Given the description of an element on the screen output the (x, y) to click on. 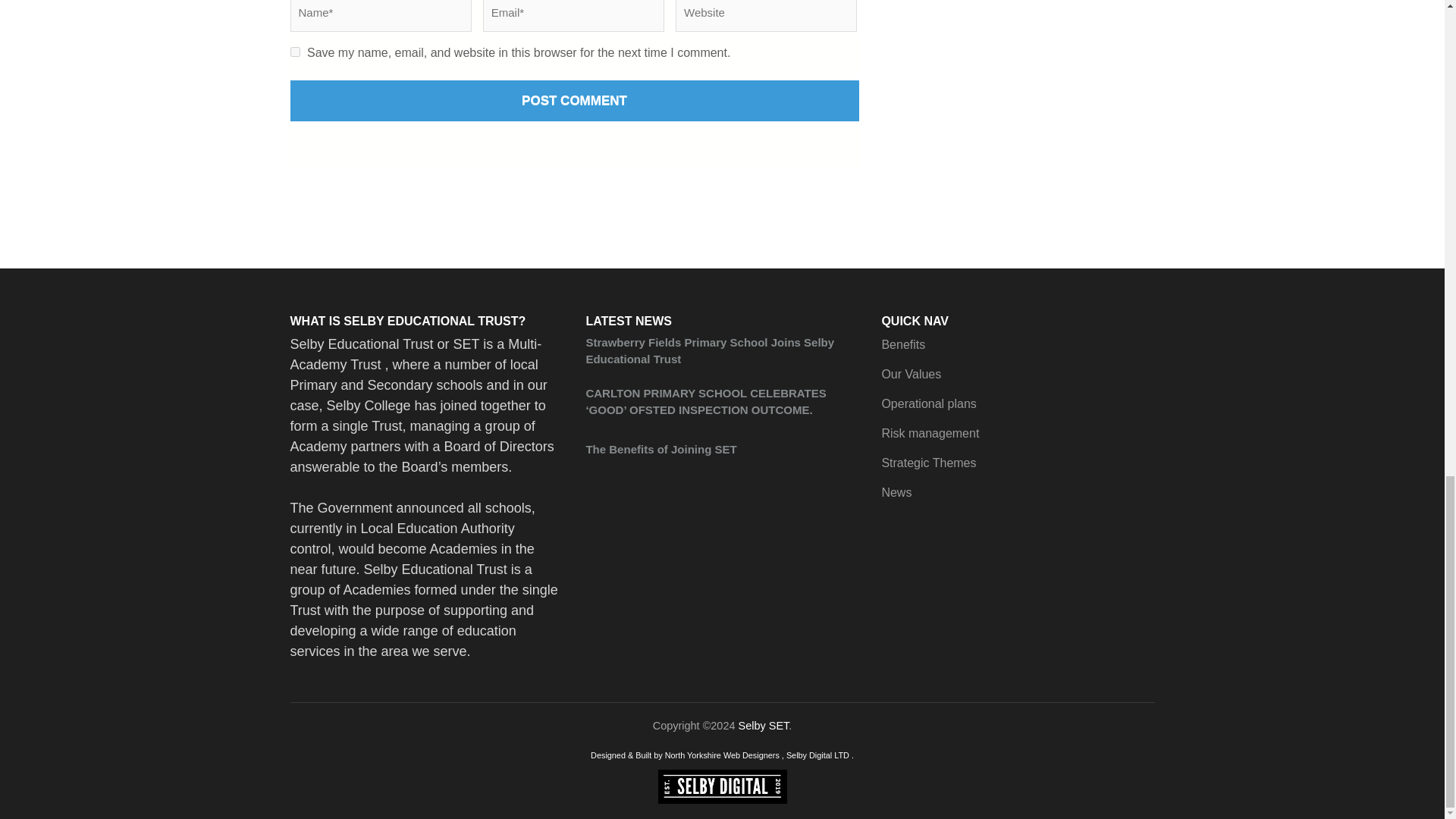
Post Comment (574, 100)
yes (294, 51)
